Given the description of an element on the screen output the (x, y) to click on. 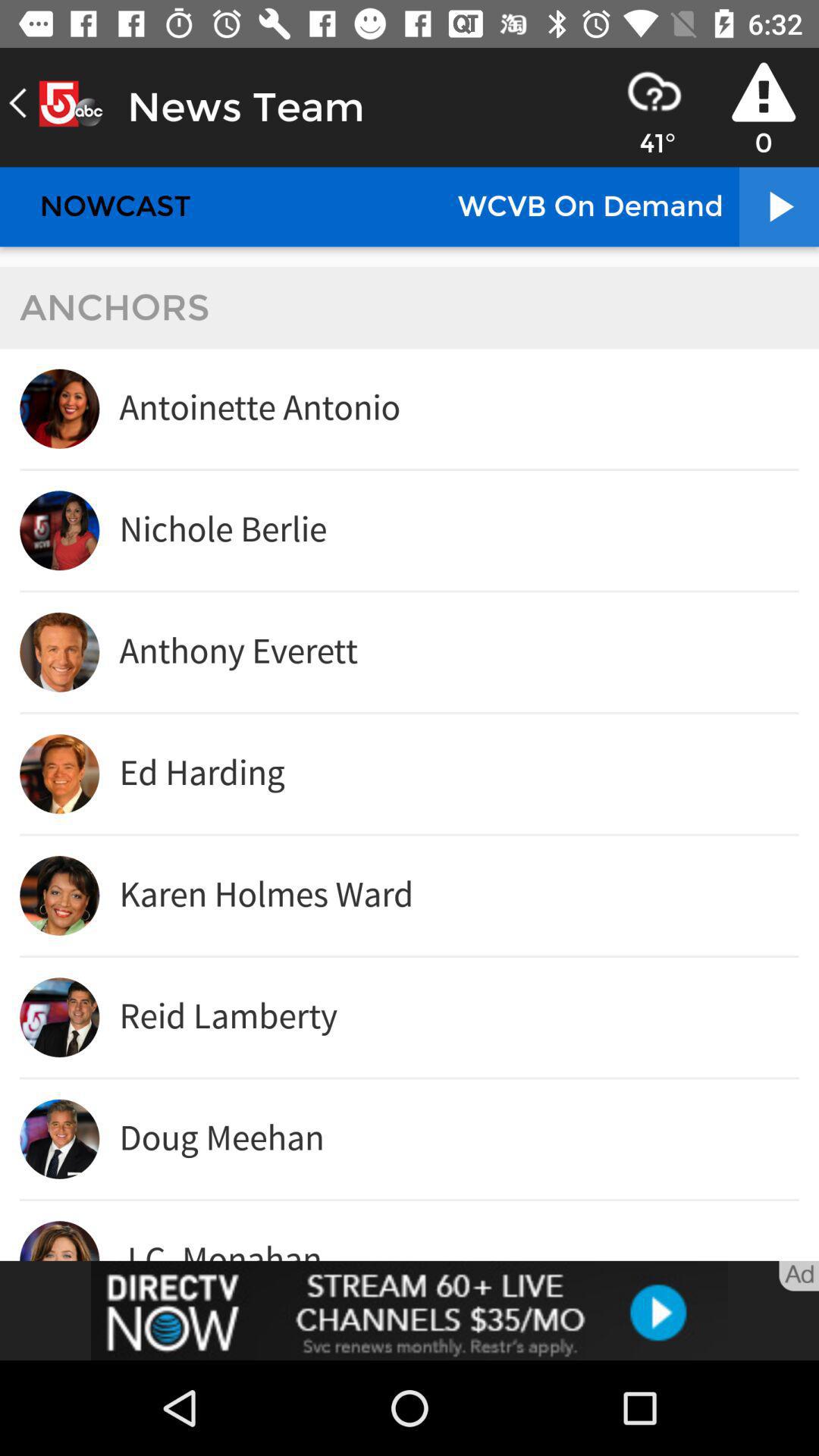
advertisement (409, 1310)
